Given the description of an element on the screen output the (x, y) to click on. 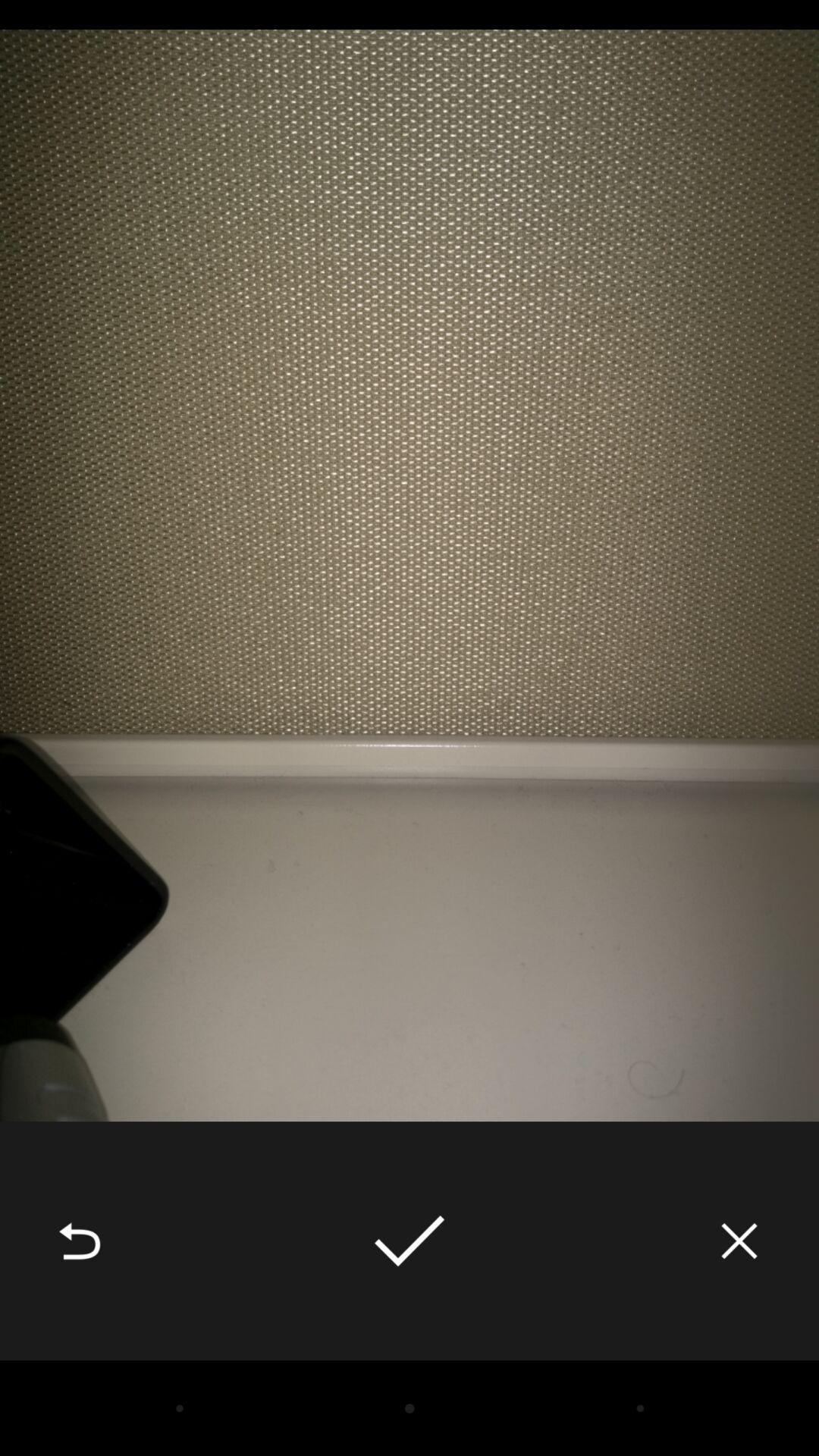
click icon at the bottom left corner (79, 1240)
